Given the description of an element on the screen output the (x, y) to click on. 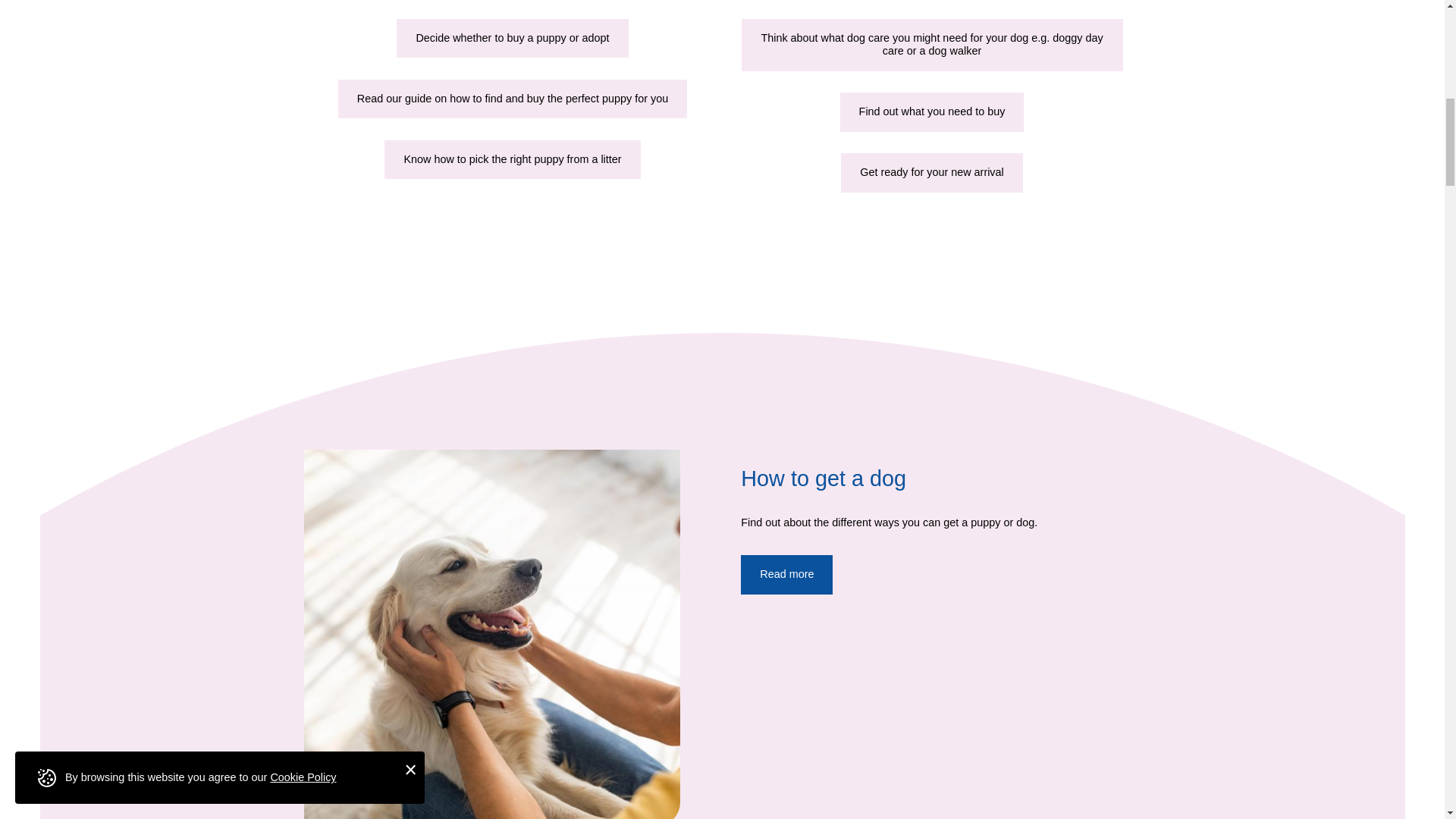
Decide whether to buy a puppy or adopt (511, 37)
Find out what you need to buy (932, 111)
Decide whether to buy a puppy or adopt (511, 37)
Get ready for your new arrival (932, 172)
Find out what you need to buy (932, 111)
Read more (786, 574)
Know how to pick the right puppy from a litter (512, 159)
How to get a dog (786, 574)
Get ready for your new arrival (932, 172)
Know how to pick the right puppy from a litter (512, 159)
